Given the description of an element on the screen output the (x, y) to click on. 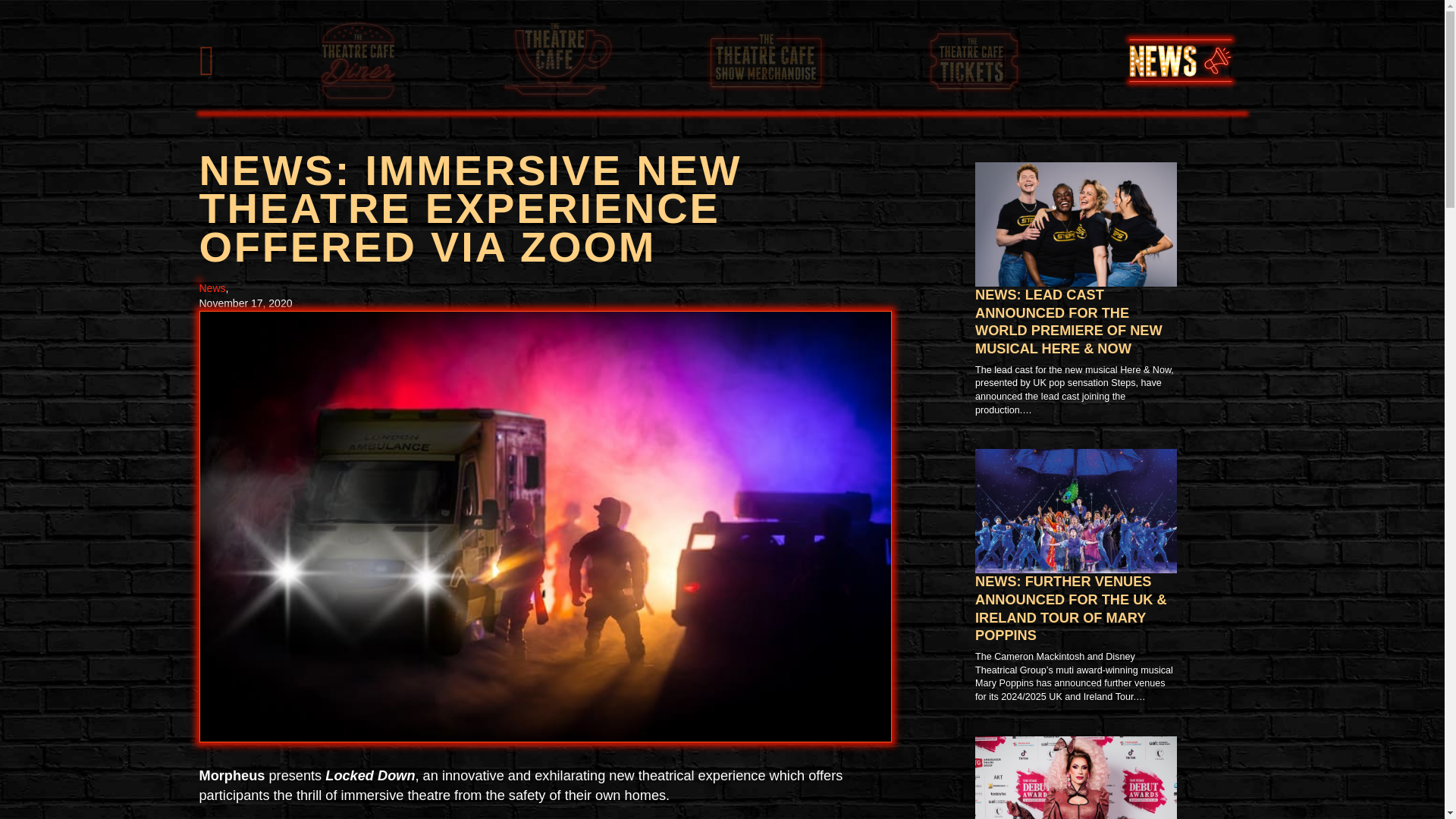
News (211, 287)
